Given the description of an element on the screen output the (x, y) to click on. 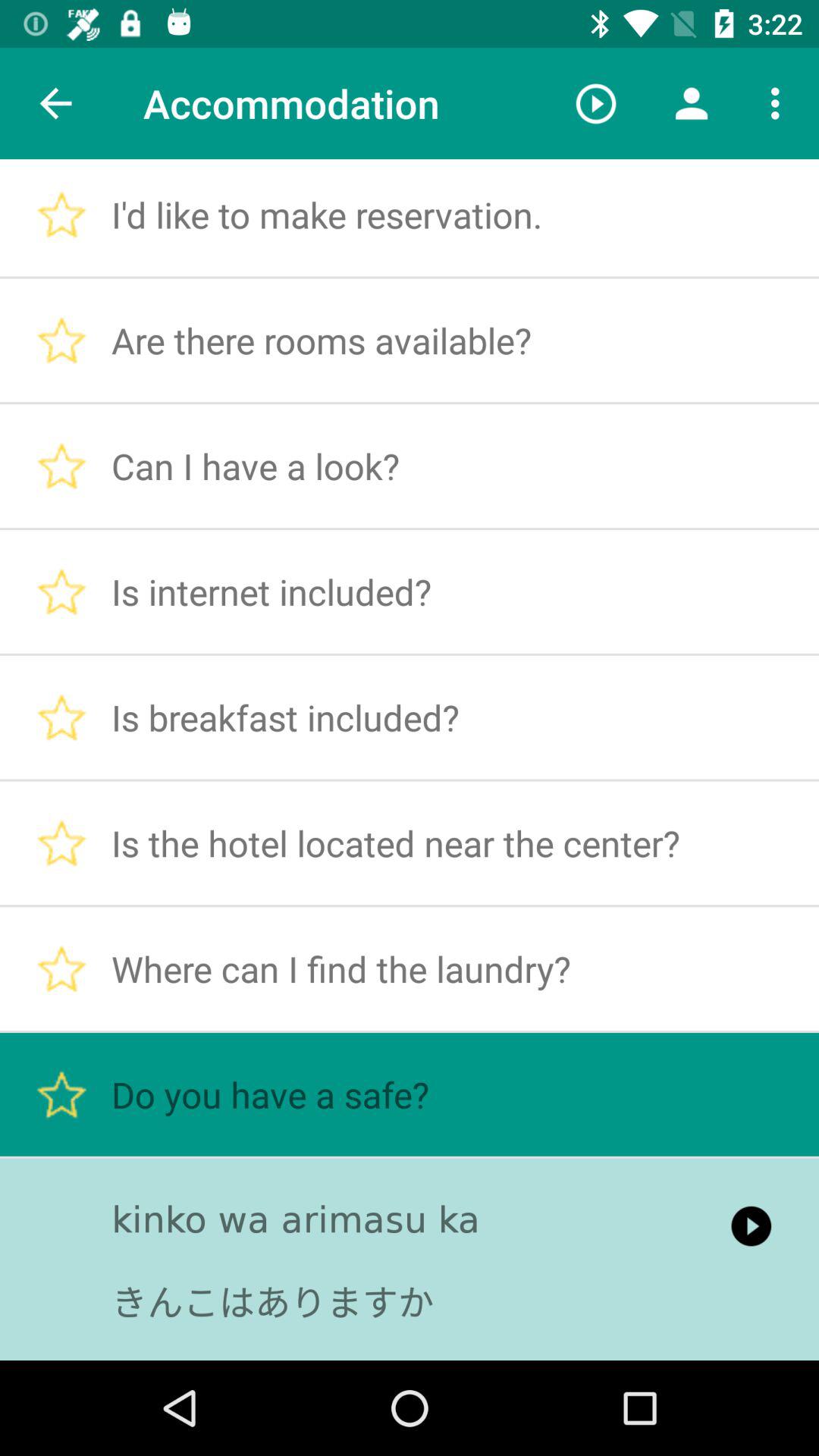
select the icon above i d like item (595, 103)
